Given the description of an element on the screen output the (x, y) to click on. 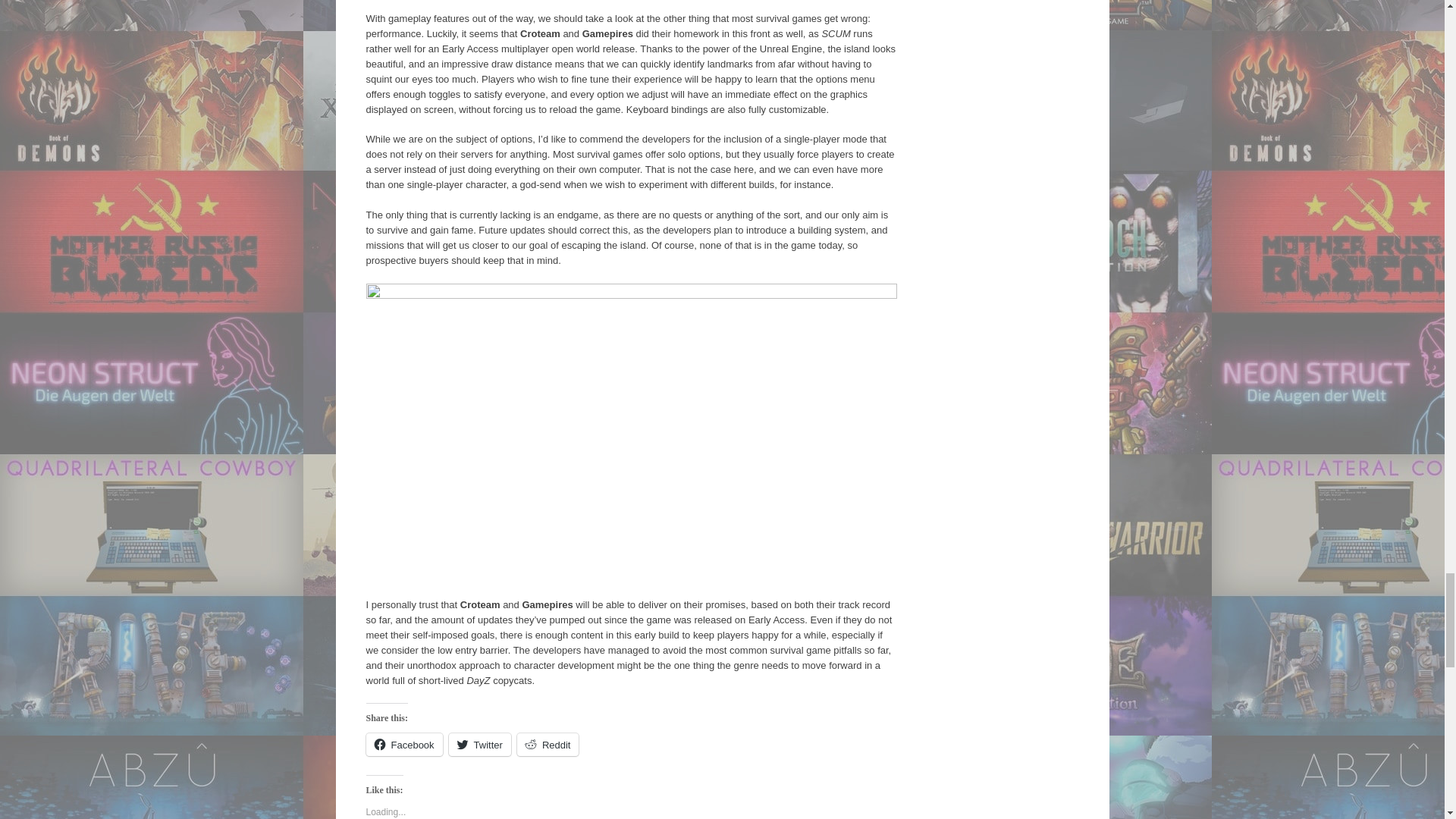
Click to share on Reddit (547, 744)
Twitter (479, 744)
Click to share on Twitter (479, 744)
Reddit (547, 744)
Facebook (403, 744)
Click to share on Facebook (403, 744)
